Given the description of an element on the screen output the (x, y) to click on. 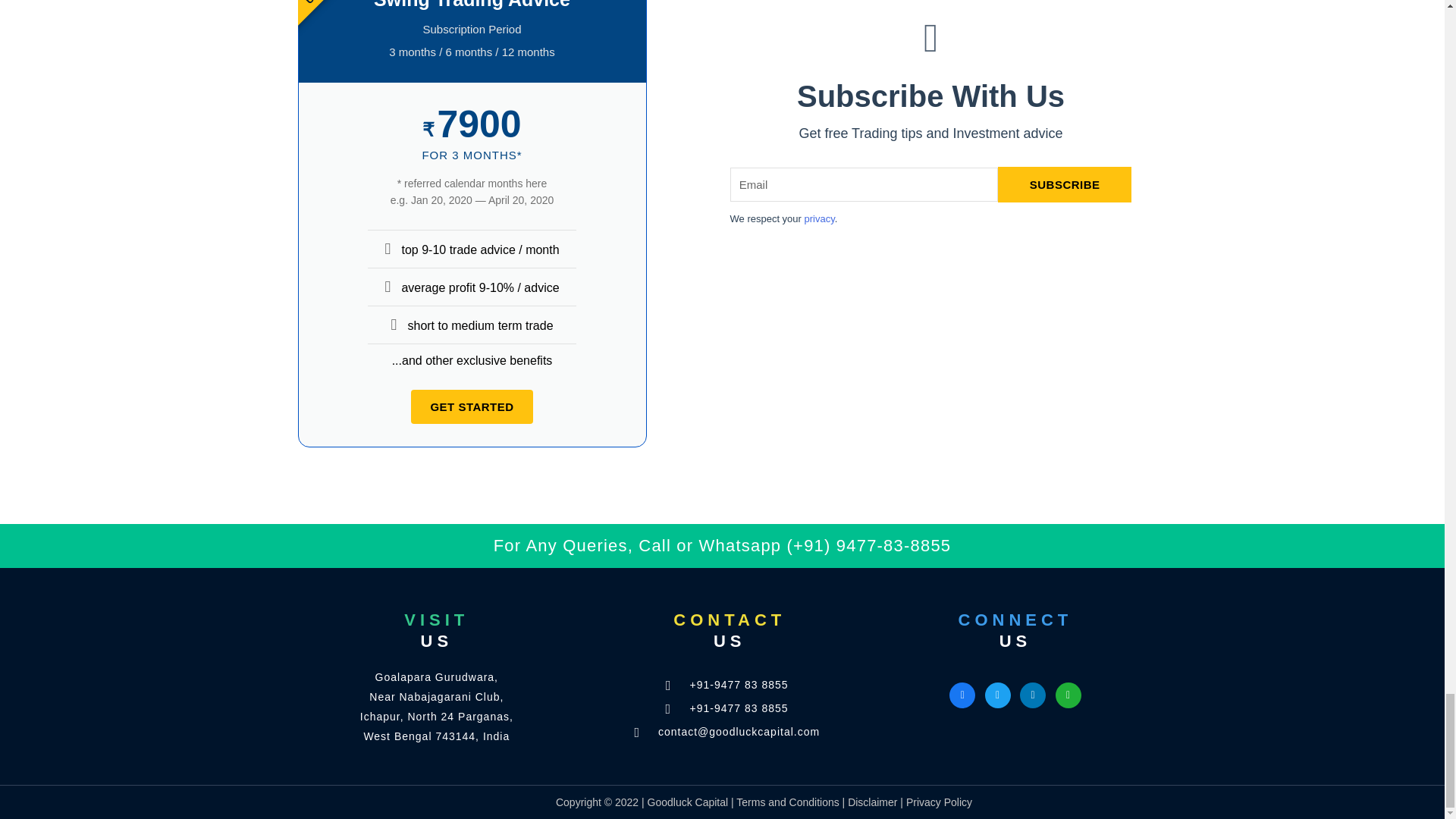
Default Label (1032, 694)
Facebook (962, 694)
Default Label (1068, 694)
Swing Trading Advice (472, 4)
Twitter (997, 694)
